Given the description of an element on the screen output the (x, y) to click on. 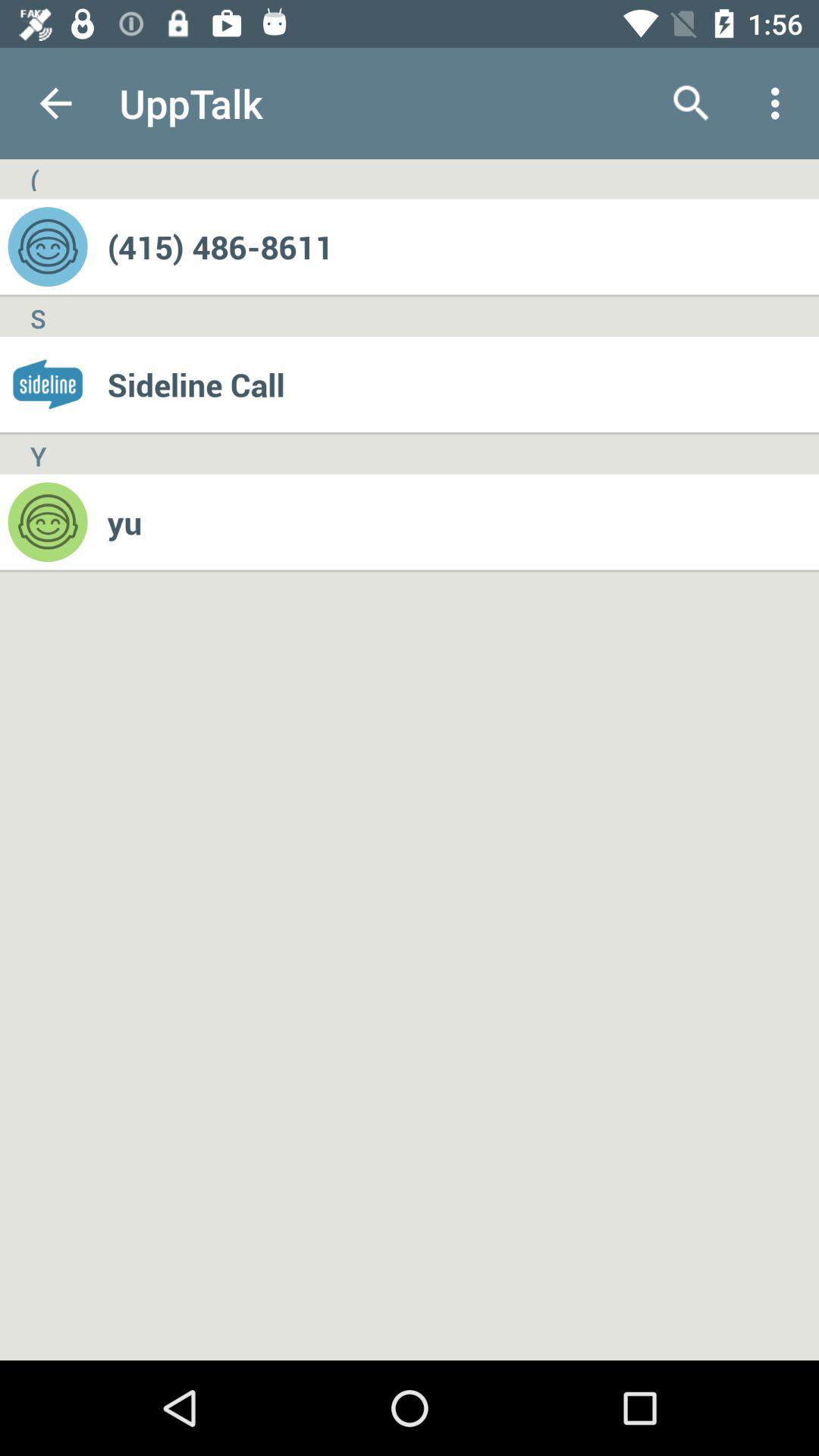
launch the icon above yu icon (463, 384)
